Given the description of an element on the screen output the (x, y) to click on. 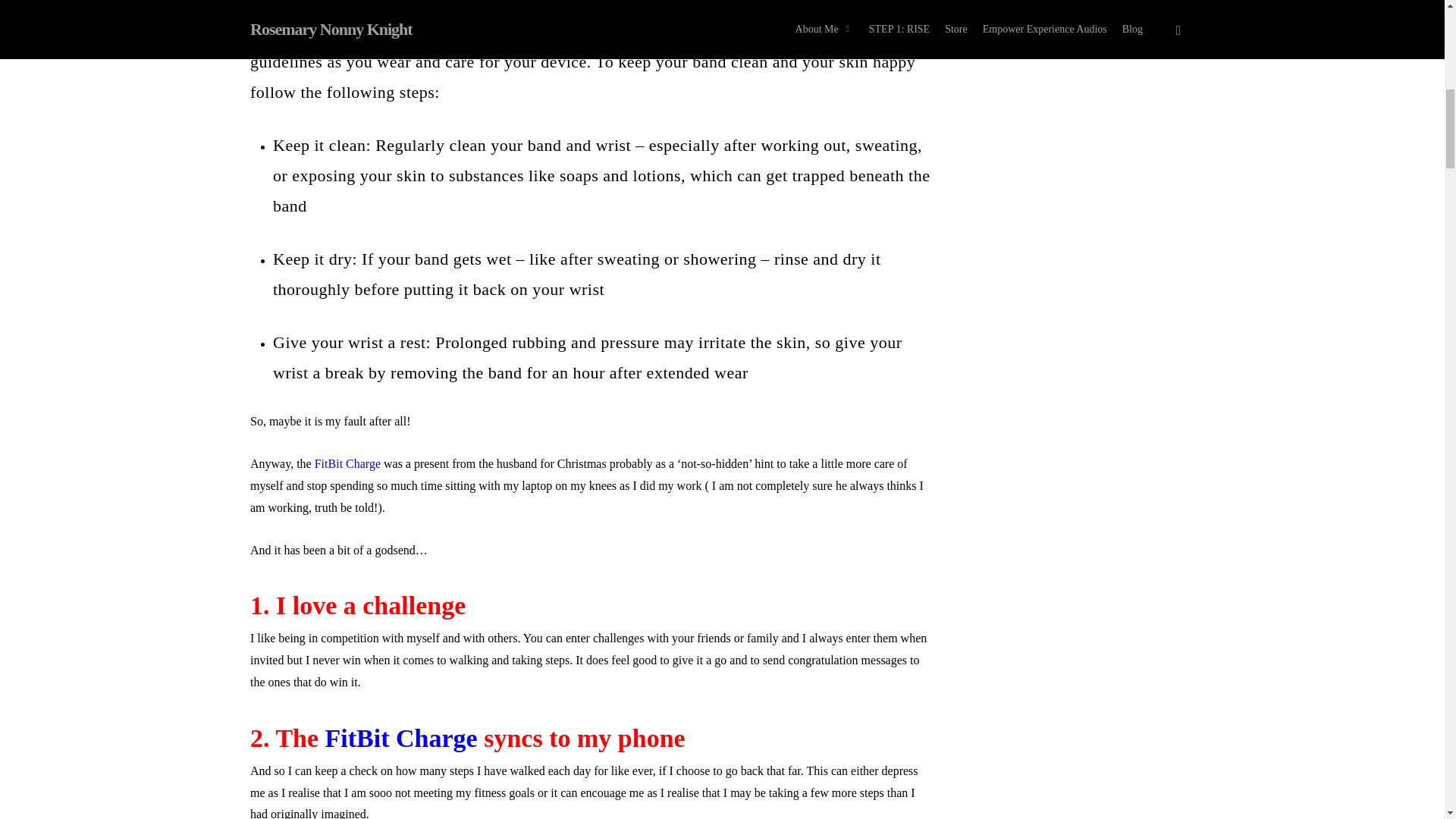
FitBit Charge (347, 463)
FitBit Charge (400, 737)
